Given the description of an element on the screen output the (x, y) to click on. 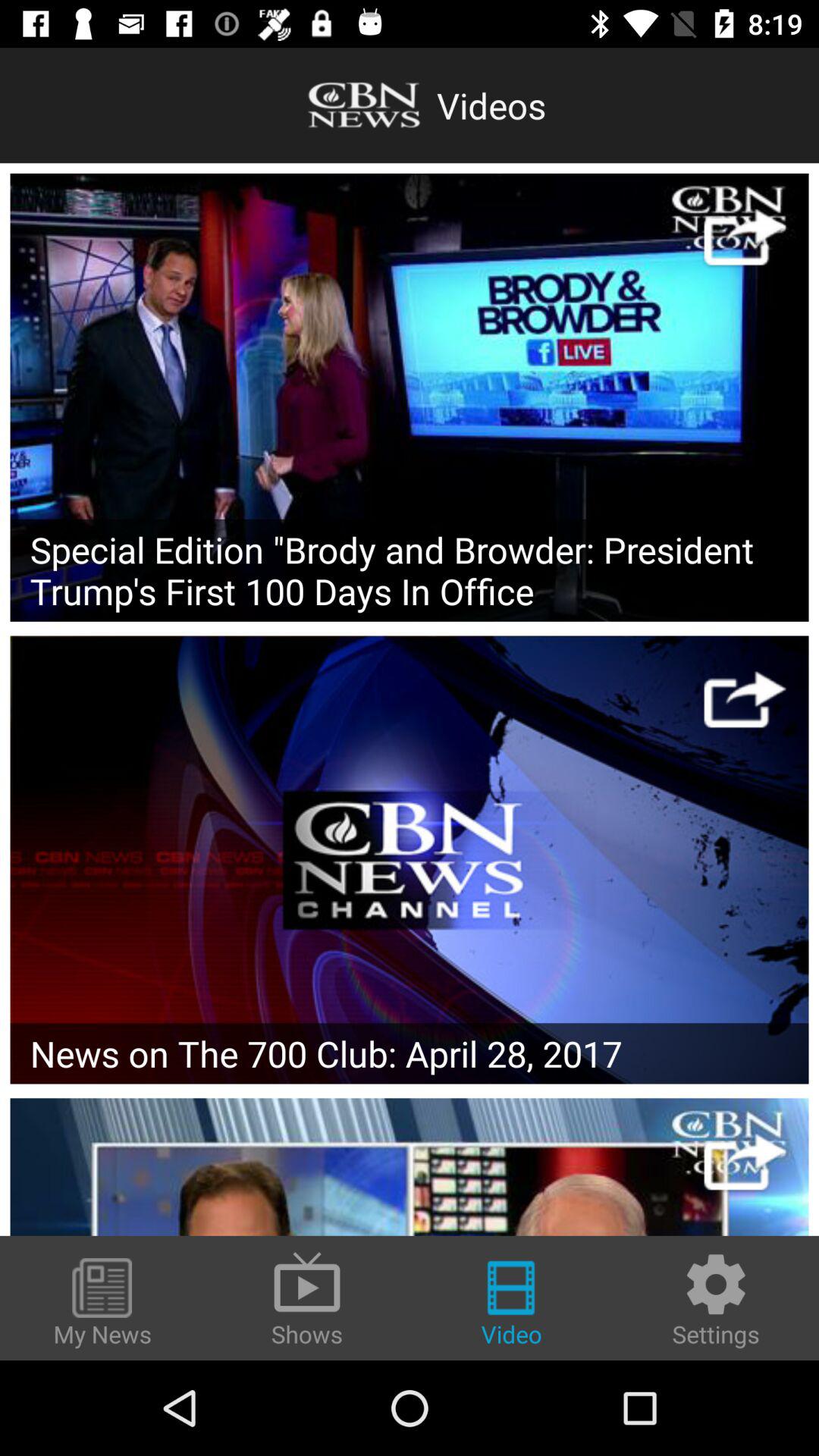
choose the my news icon (102, 1304)
